Given the description of an element on the screen output the (x, y) to click on. 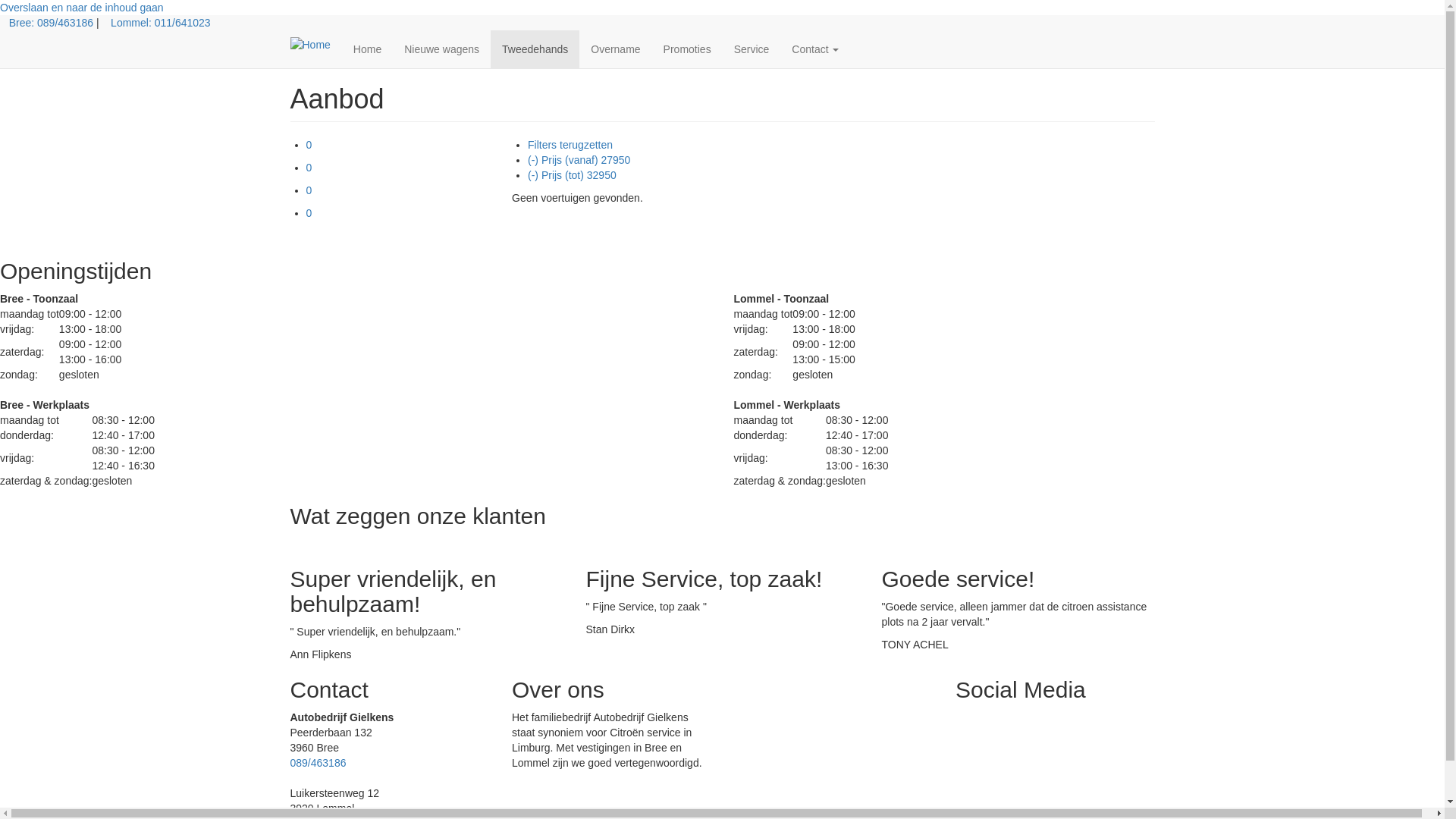
Overslaan en naar de inhoud gaan Element type: text (81, 7)
(-) Prijs (tot) 32950 Element type: text (571, 175)
Nieuwe wagens Element type: text (441, 49)
Service Element type: text (751, 49)
0 Element type: text (309, 144)
Promoties Element type: text (687, 49)
Filters terugzetten Element type: text (569, 144)
Lommel: 011/641023 Element type: text (160, 22)
  Element type: text (956, 717)
0 Element type: text (309, 167)
0 Element type: text (309, 190)
0 Element type: text (309, 213)
Home Element type: text (367, 49)
  Element type: text (962, 717)
Contact Element type: text (815, 49)
Tweedehands Element type: text (534, 49)
Home Element type: hover (315, 44)
Overname Element type: text (615, 49)
Bree: 089/463186 Element type: text (51, 22)
(-) Prijs (vanaf) 27950 Element type: text (578, 159)
089/463186 Element type: text (317, 762)
